Given the description of an element on the screen output the (x, y) to click on. 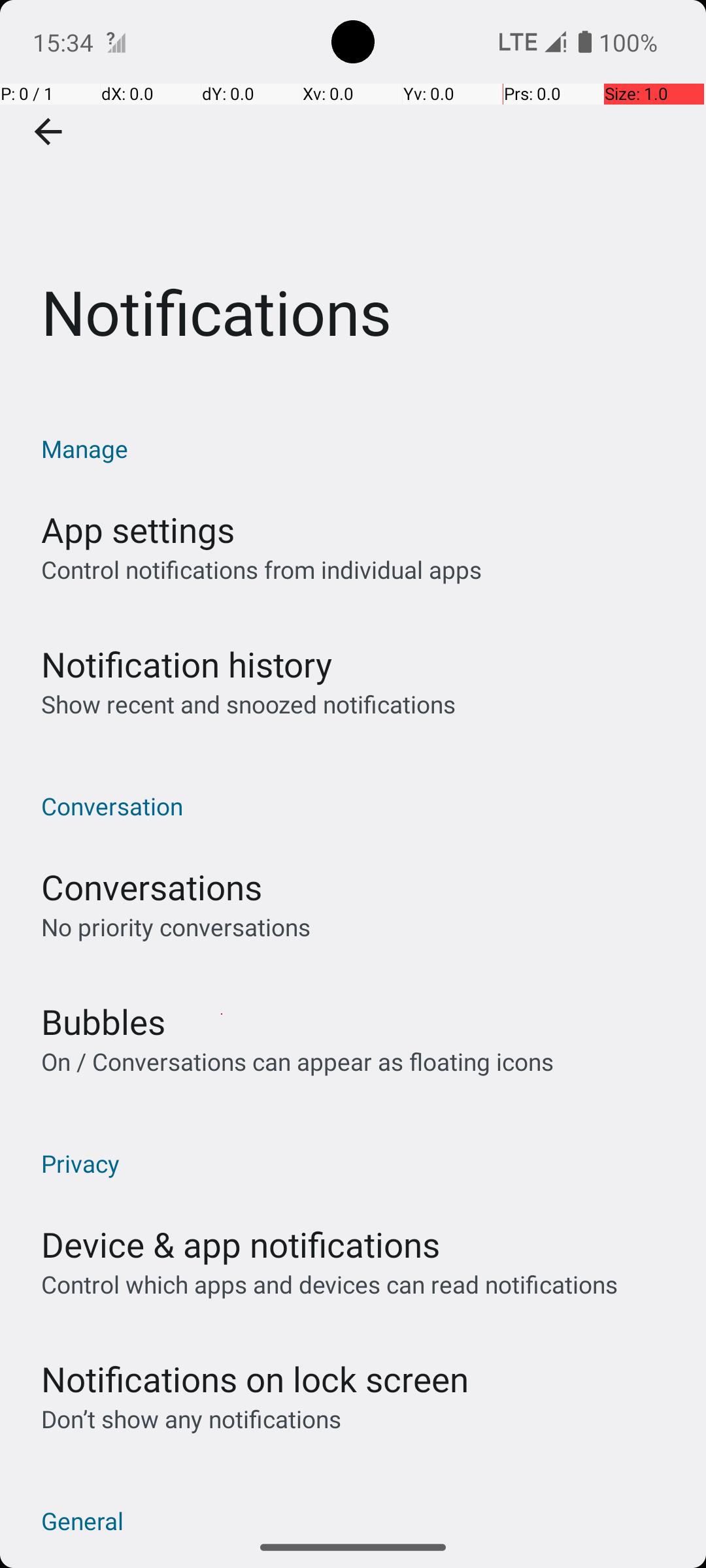
Don’t show any notifications Element type: android.widget.TextView (191, 1418)
